Given the description of an element on the screen output the (x, y) to click on. 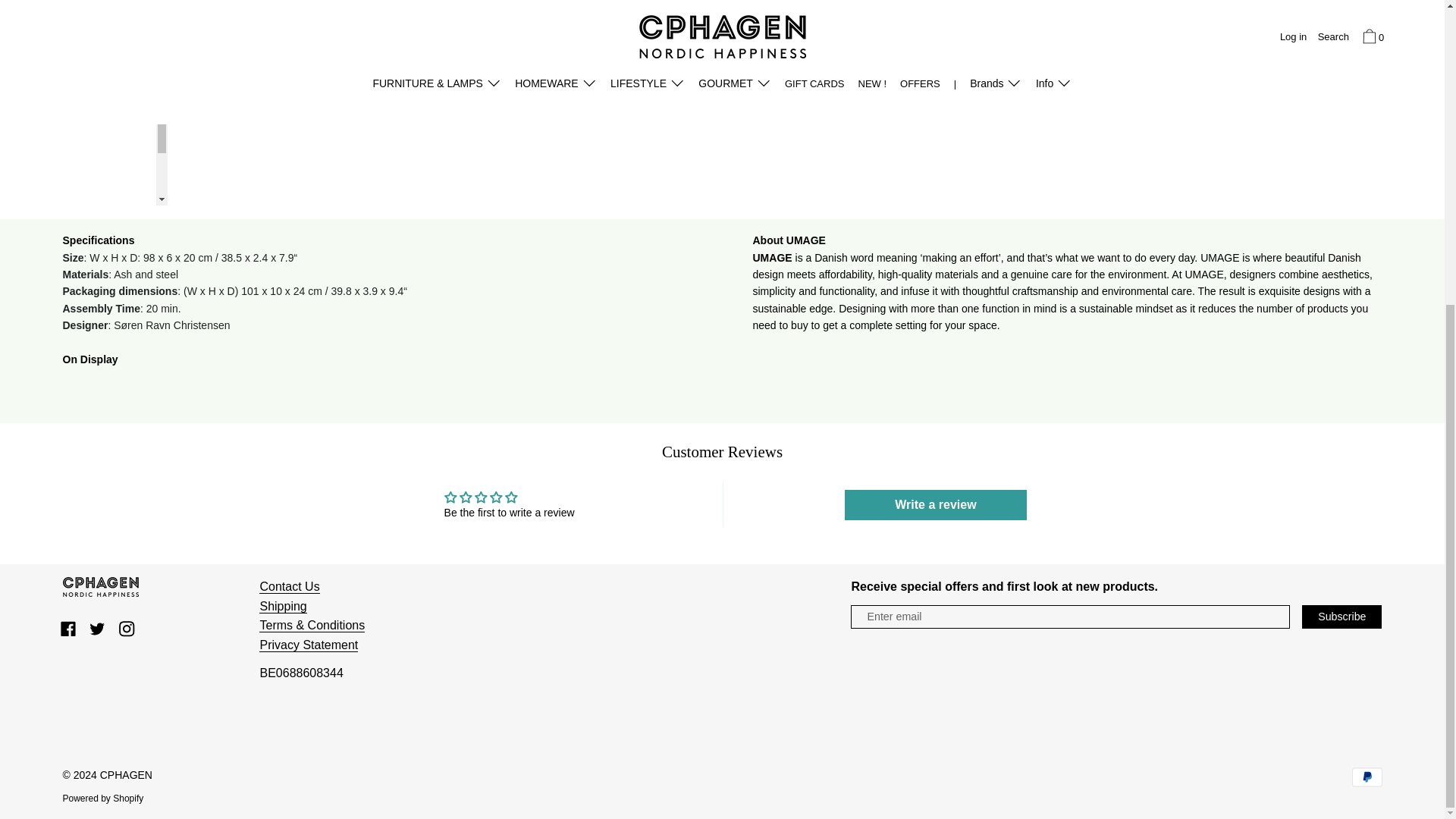
CPHAGEN on Twitter (97, 628)
CPHAGEN on Instagram (126, 628)
PayPal (1366, 776)
CPHAGEN on Facebook (68, 628)
UMAGE (805, 240)
Contact Us (288, 586)
